Given the description of an element on the screen output the (x, y) to click on. 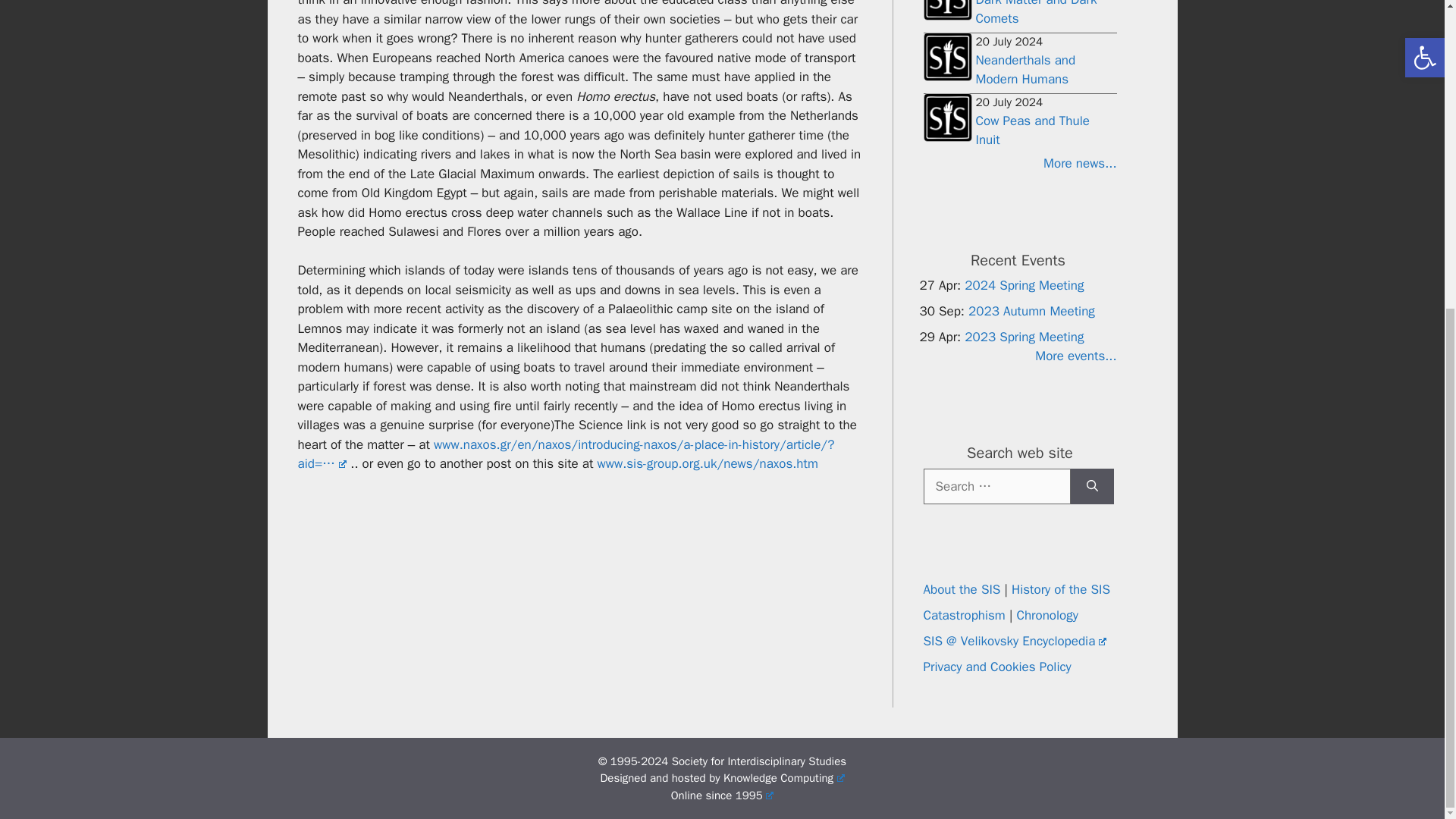
Search for: (996, 485)
